Given the description of an element on the screen output the (x, y) to click on. 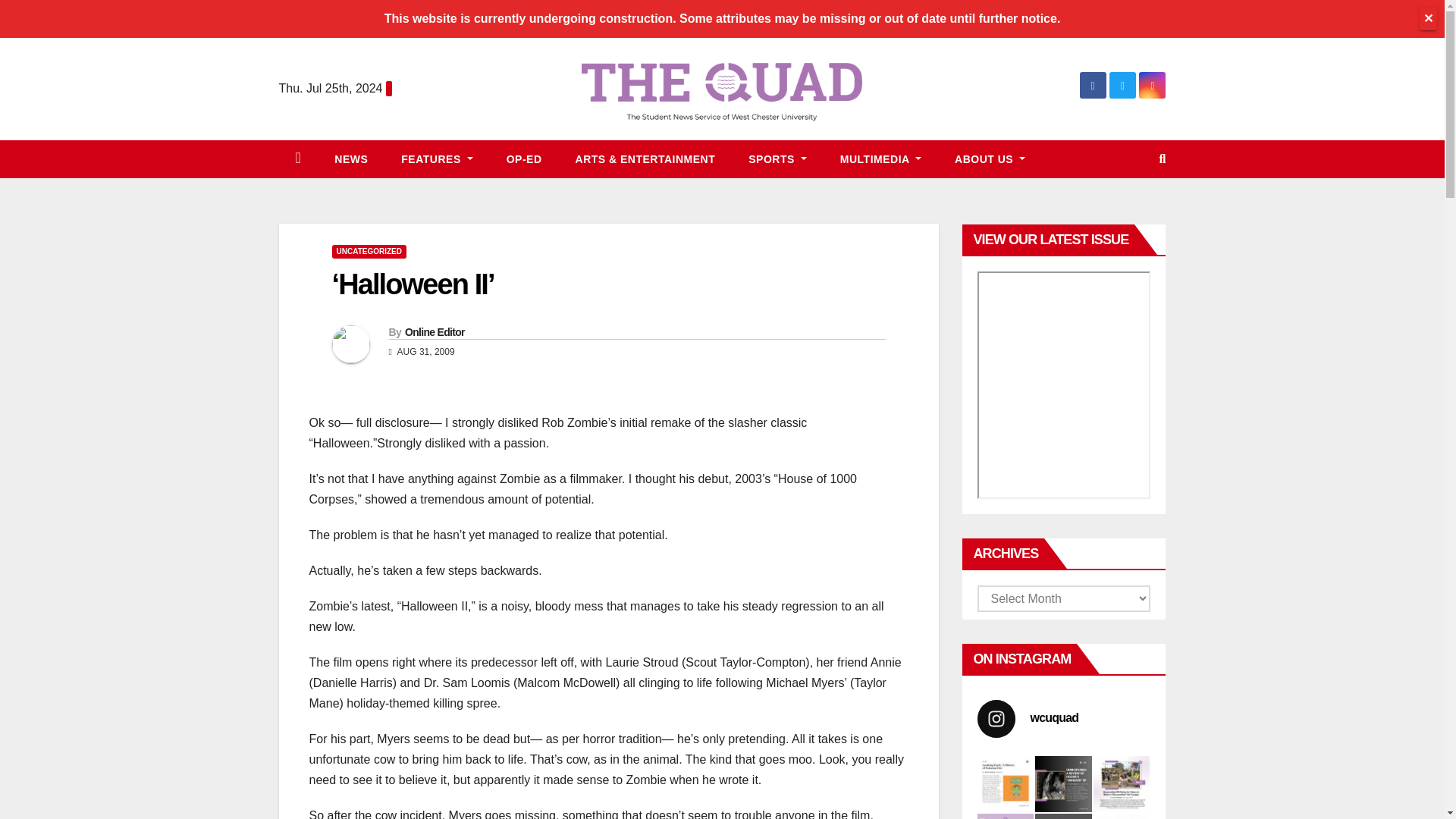
Features (436, 159)
FEATURES (436, 159)
SPORTS (778, 159)
MULTIMEDIA (880, 159)
NEWS (350, 159)
News (350, 159)
Sports (778, 159)
Op-Ed (524, 159)
OP-ED (524, 159)
ABOUT US (989, 159)
